Given the description of an element on the screen output the (x, y) to click on. 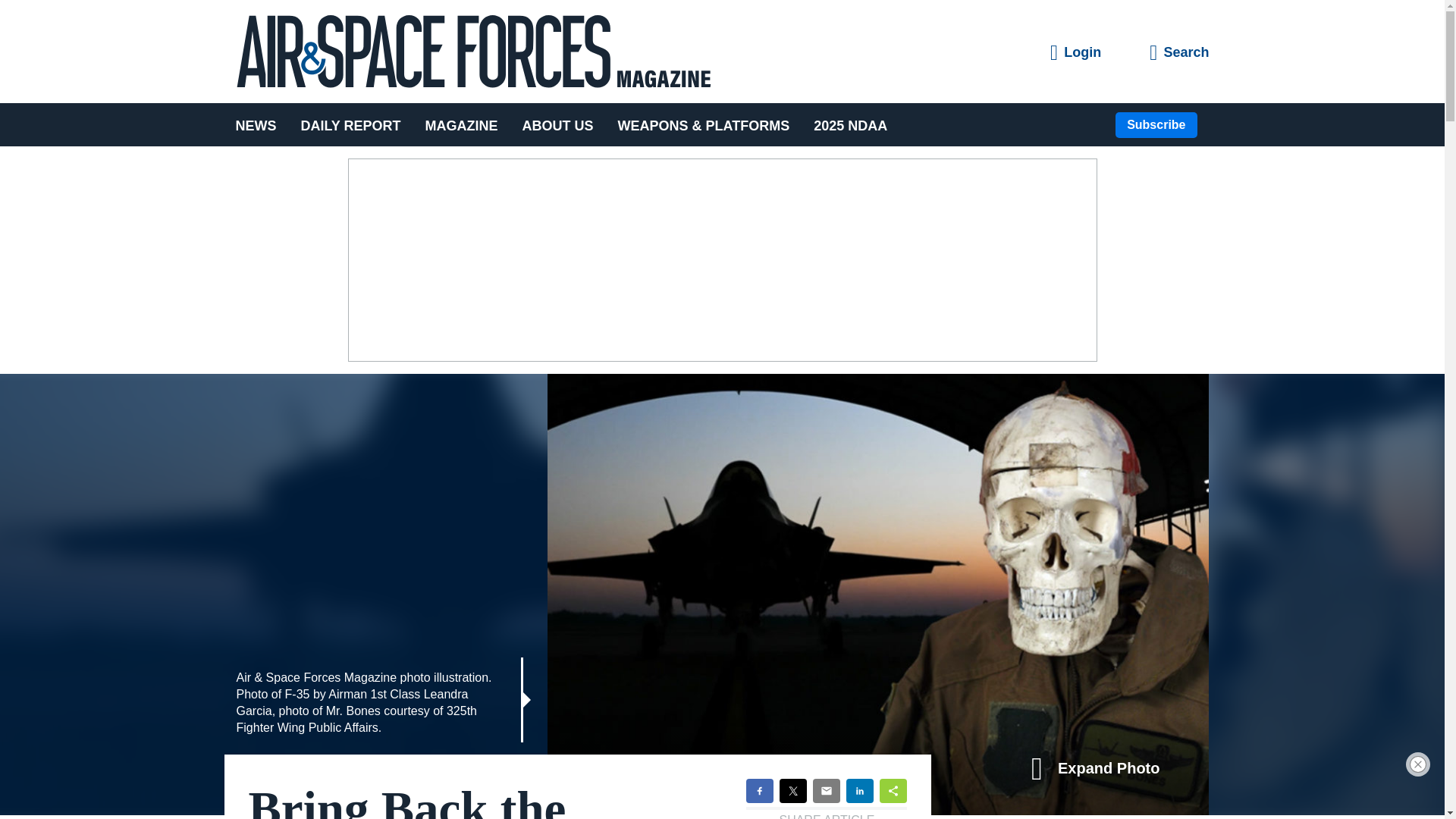
DAILY REPORT (350, 124)
NEWS (261, 124)
Search (1179, 52)
Login (1074, 52)
ABOUT US (558, 124)
MAGAZINE (462, 124)
